Given the description of an element on the screen output the (x, y) to click on. 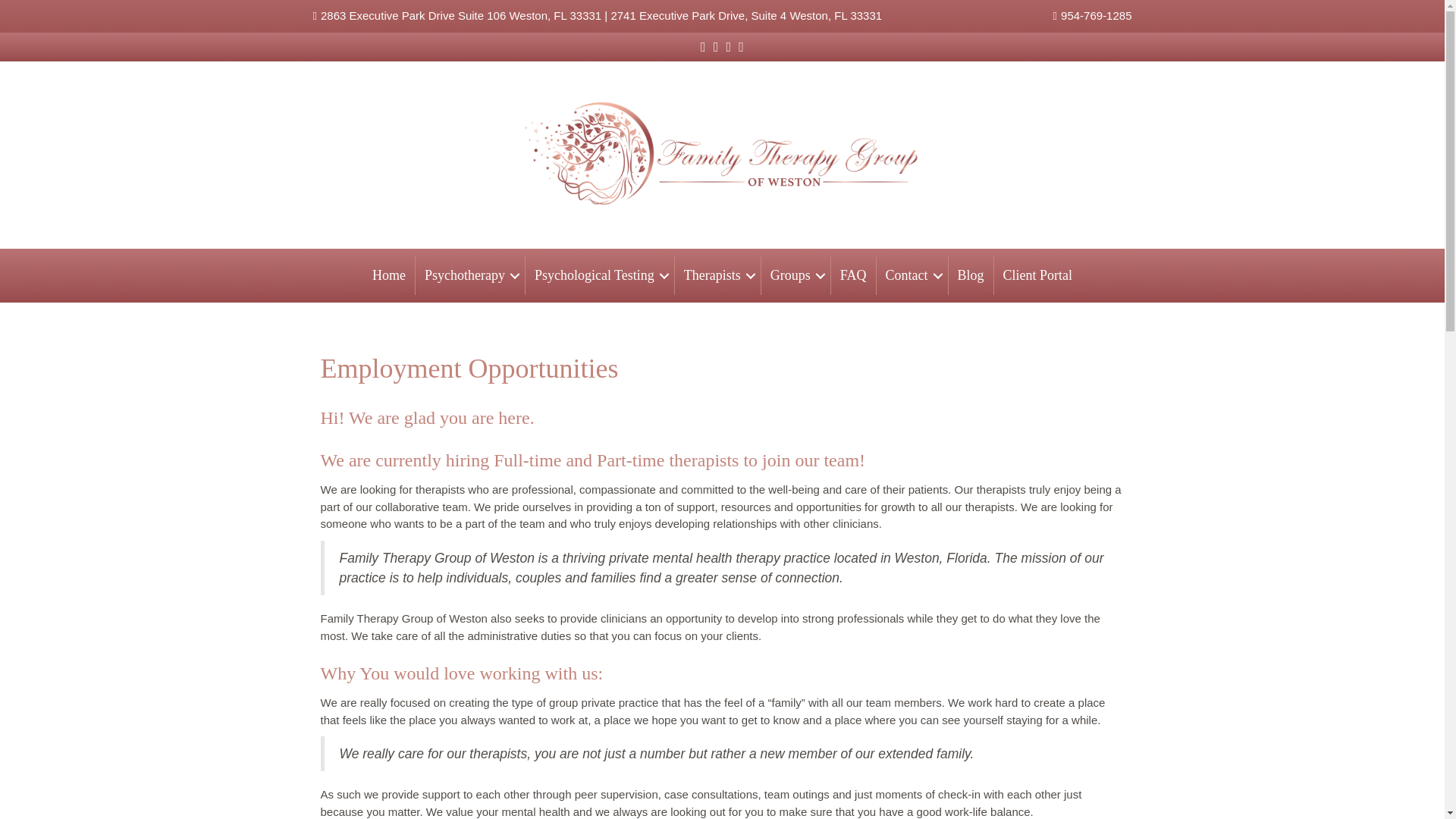
Therapists (717, 275)
Psychological Testing (599, 275)
Psychotherapy (469, 275)
Family Therapy Group of Weston (722, 154)
Home (388, 275)
